Given the description of an element on the screen output the (x, y) to click on. 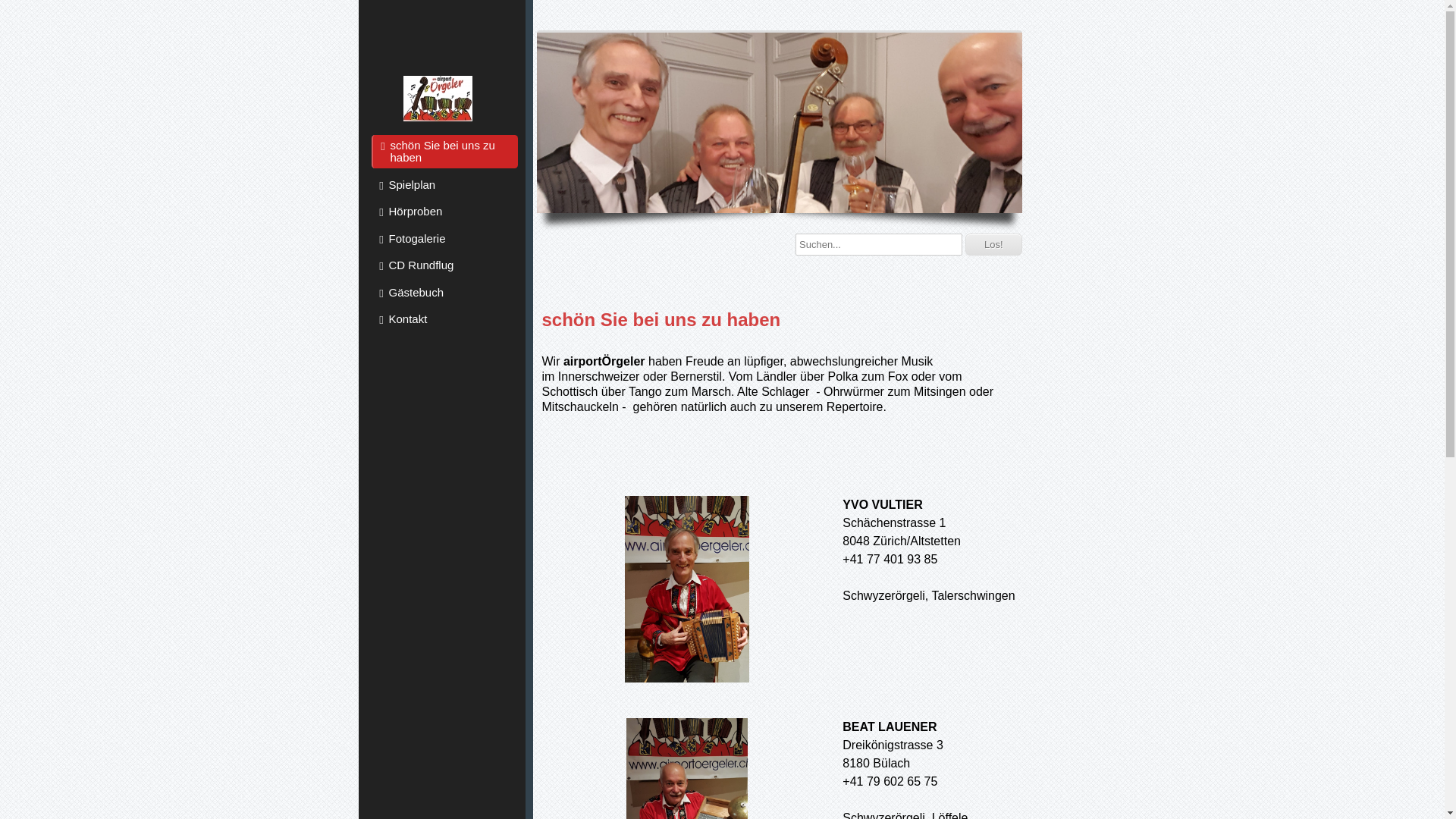
Spielplan Element type: text (444, 184)
Los! Element type: text (993, 244)
CD Rundflug Element type: text (444, 265)
Fotogalerie Element type: text (444, 237)
Kontakt Element type: text (444, 318)
